Given the description of an element on the screen output the (x, y) to click on. 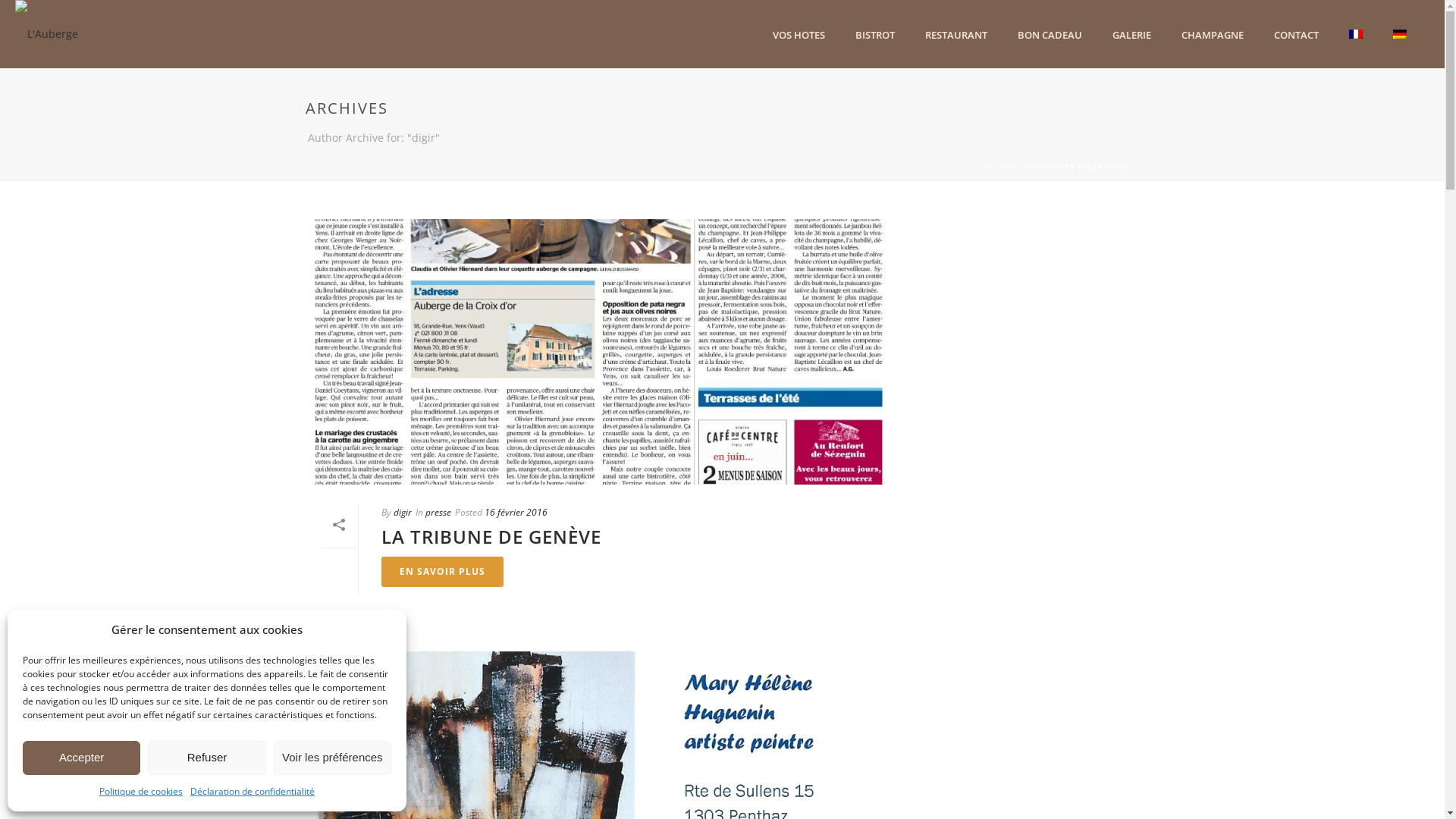
BISTROT Element type: text (875, 34)
  Element type: text (604, 351)
EN SAVOIR PLUS Element type: text (441, 571)
Refuser Element type: text (206, 757)
RESTAURANT Element type: text (956, 34)
digir Element type: text (401, 511)
presse Element type: text (437, 511)
CONTACT Element type: text (1295, 34)
Politique de cookies Element type: text (140, 791)
Accepter Element type: text (81, 757)
BON CADEAU Element type: text (1049, 34)
VOS HOTES Element type: text (798, 34)
GALERIE Element type: text (1131, 34)
ACCUEIL Element type: text (1000, 165)
CHAMPAGNE Element type: text (1212, 34)
